Given the description of an element on the screen output the (x, y) to click on. 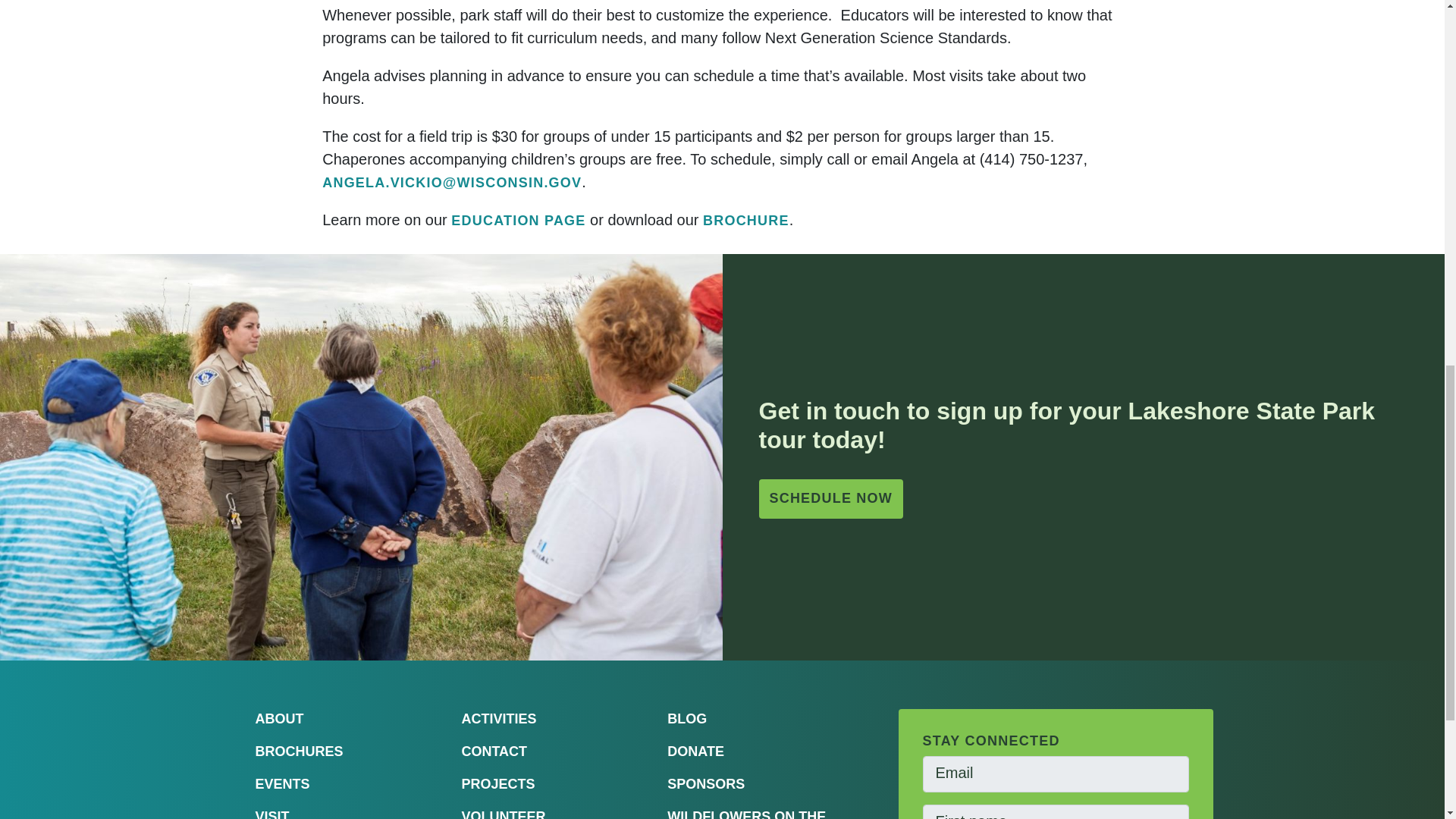
SPONSORS (705, 783)
PROJECTS (497, 783)
BROCHURE (746, 221)
VOLUNTEER (502, 814)
EDUCATION PAGE (518, 221)
EVENTS (281, 783)
SCHEDULE NOW (830, 498)
ABOUT (278, 718)
ACTIVITIES (498, 718)
BROCHURES (298, 751)
WILDFLOWERS ON THE WATER (745, 814)
BLOG (686, 718)
CONTACT (494, 751)
VISIT (271, 814)
DONATE (694, 751)
